Given the description of an element on the screen output the (x, y) to click on. 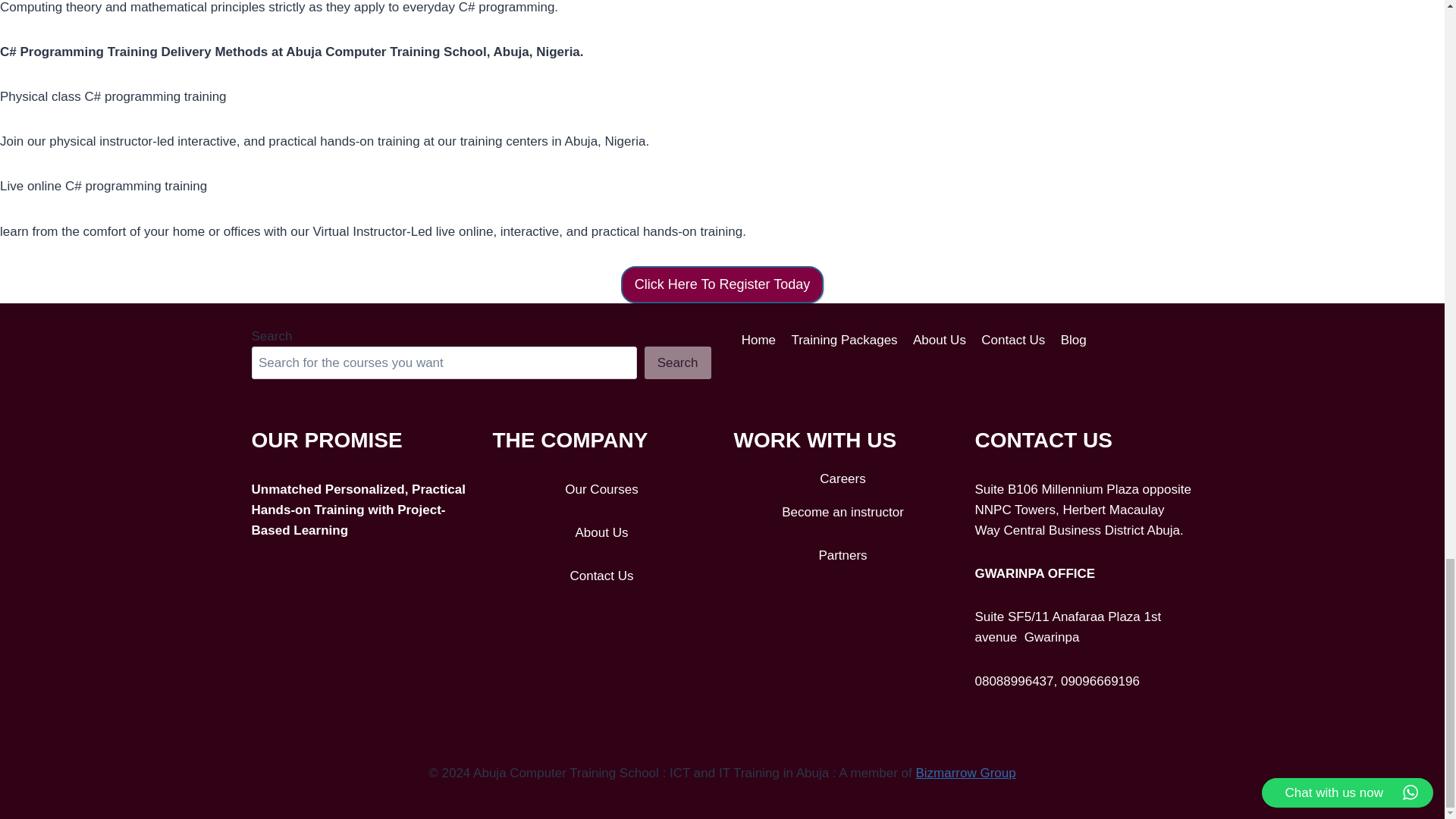
Search (678, 362)
Bizmarrow Group (964, 772)
Home (758, 339)
About Us (939, 339)
Click Here To Register Today (722, 284)
Training Packages (844, 339)
Blog (1073, 339)
Contact Us (1013, 339)
